Given the description of an element on the screen output the (x, y) to click on. 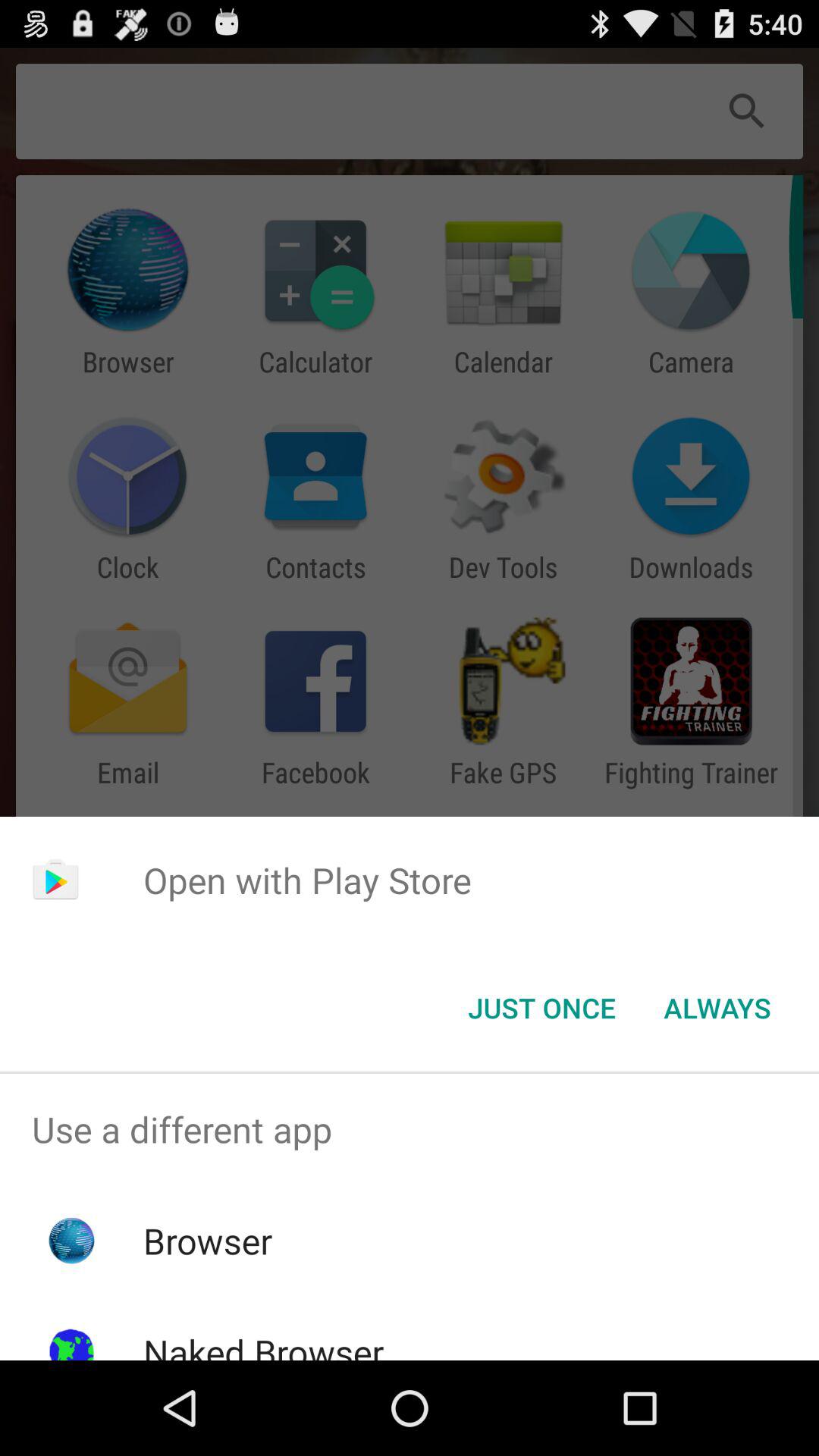
select the item at the bottom right corner (717, 1007)
